Given the description of an element on the screen output the (x, y) to click on. 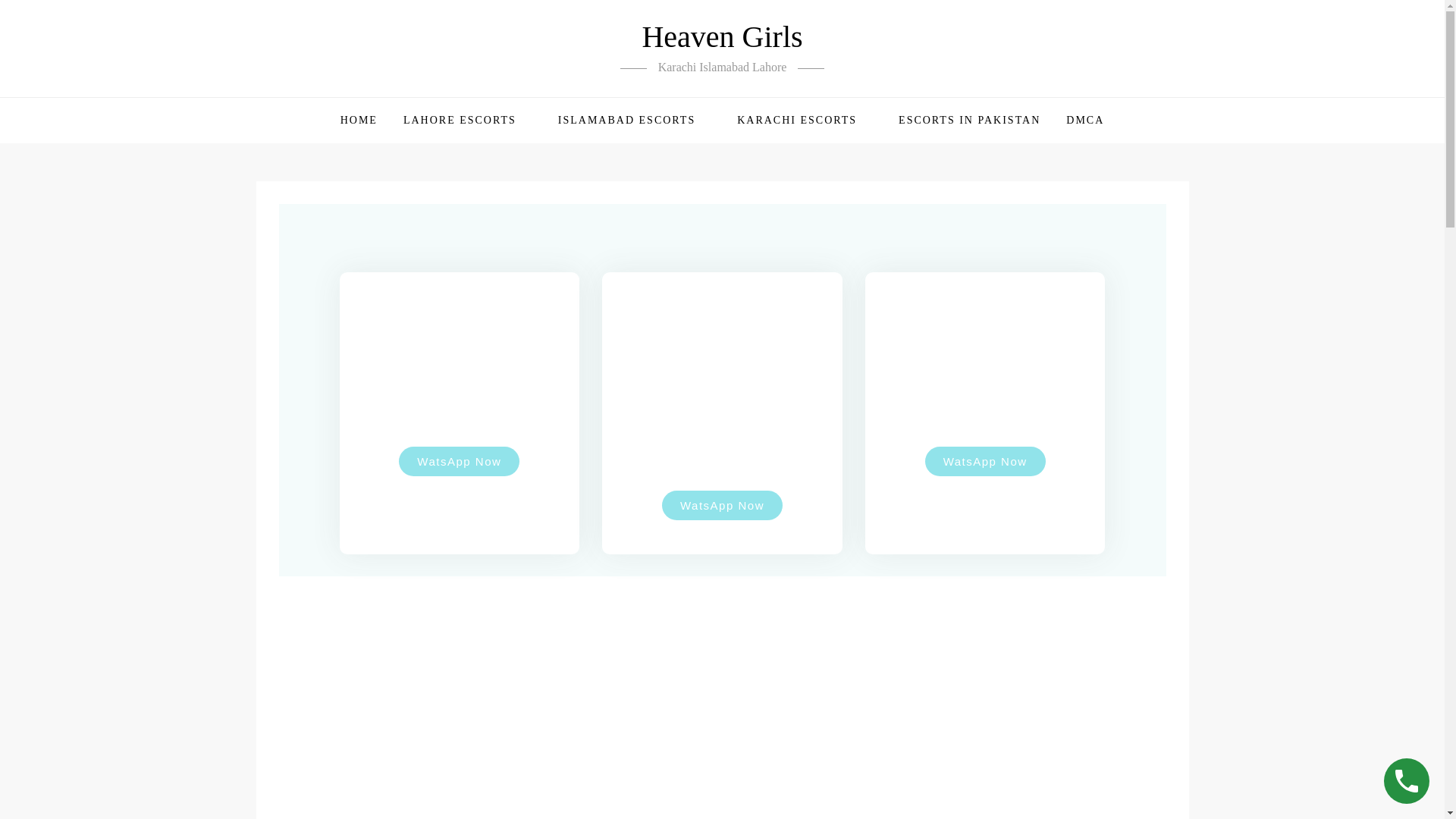
Heaven Girls (722, 36)
LAHORE ESCORTS (467, 120)
HOME (358, 120)
